Given the description of an element on the screen output the (x, y) to click on. 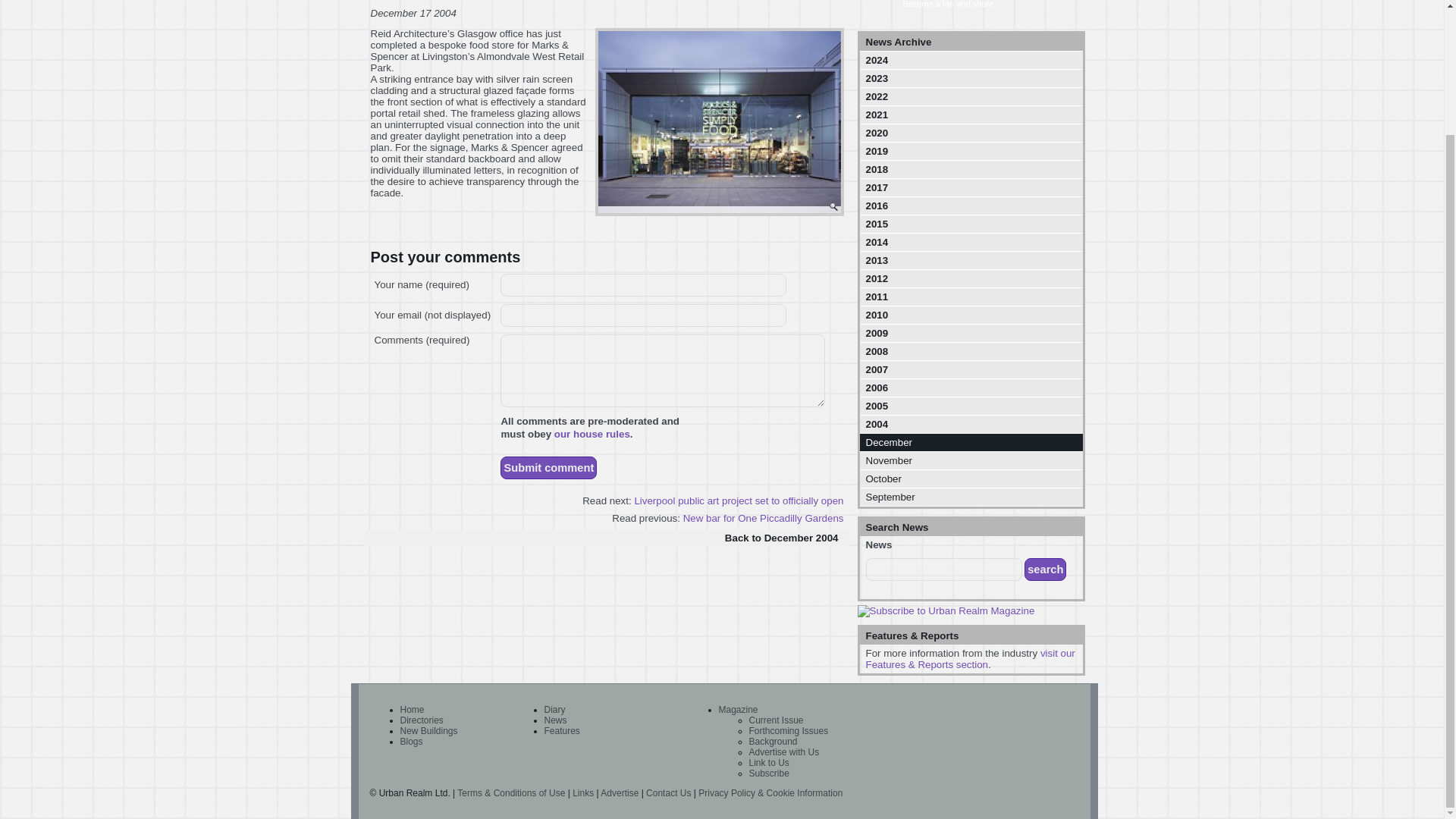
2024 (971, 59)
our house rules (592, 433)
Subscribe to Urban Realm Magazine (945, 611)
Back to December 2004 (606, 537)
Submit comment (548, 467)
search (1045, 568)
Liverpool public art project set to officially open (738, 500)
2023 (971, 77)
Submit comment (548, 467)
New bar for One Piccadilly Gardens (763, 518)
2022 (971, 95)
